Given the description of an element on the screen output the (x, y) to click on. 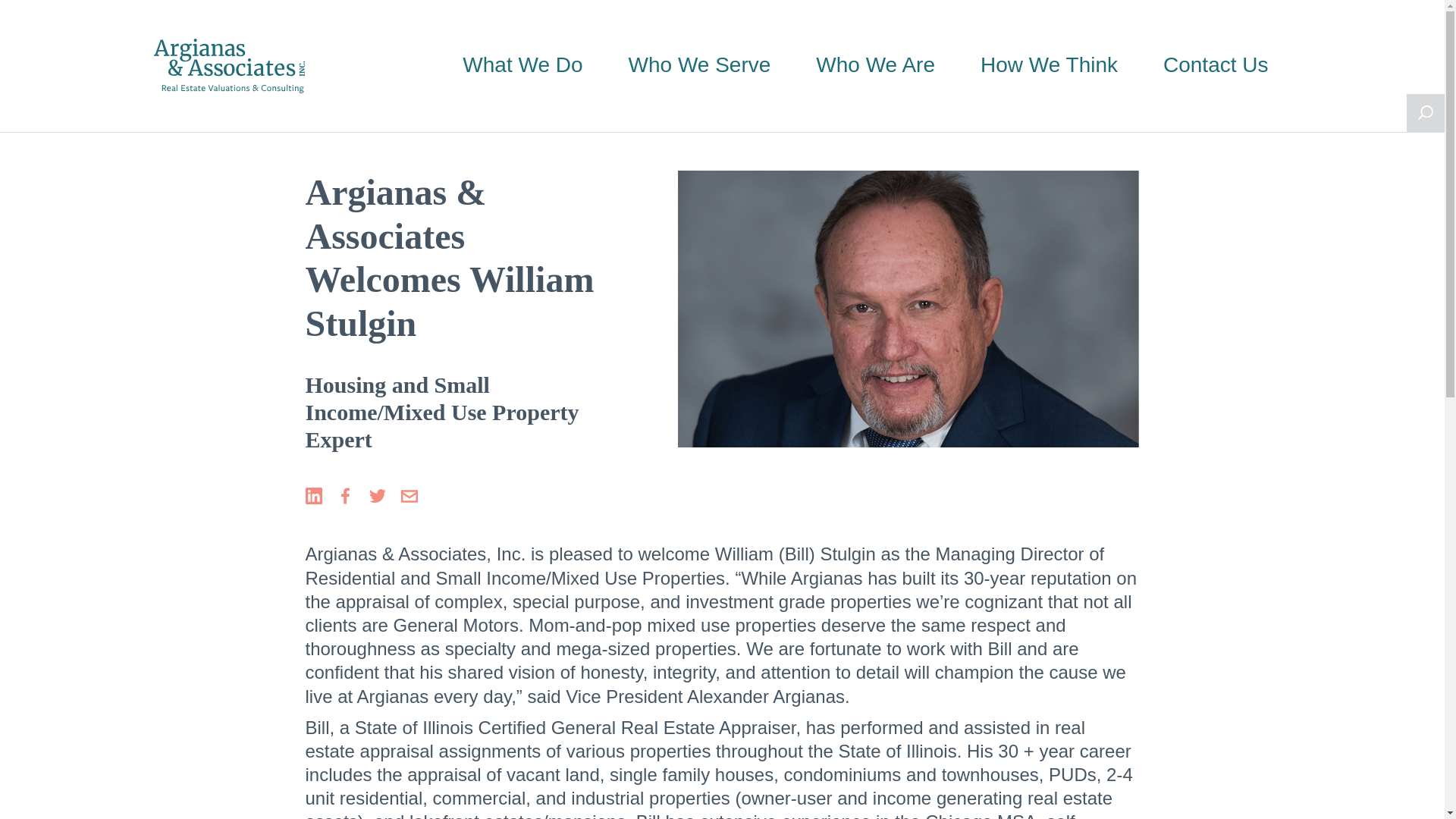
Who We Are (874, 64)
How We Think (1048, 64)
Contact Us (1215, 64)
Who We Serve (699, 64)
What We Do (522, 64)
